Given the description of an element on the screen output the (x, y) to click on. 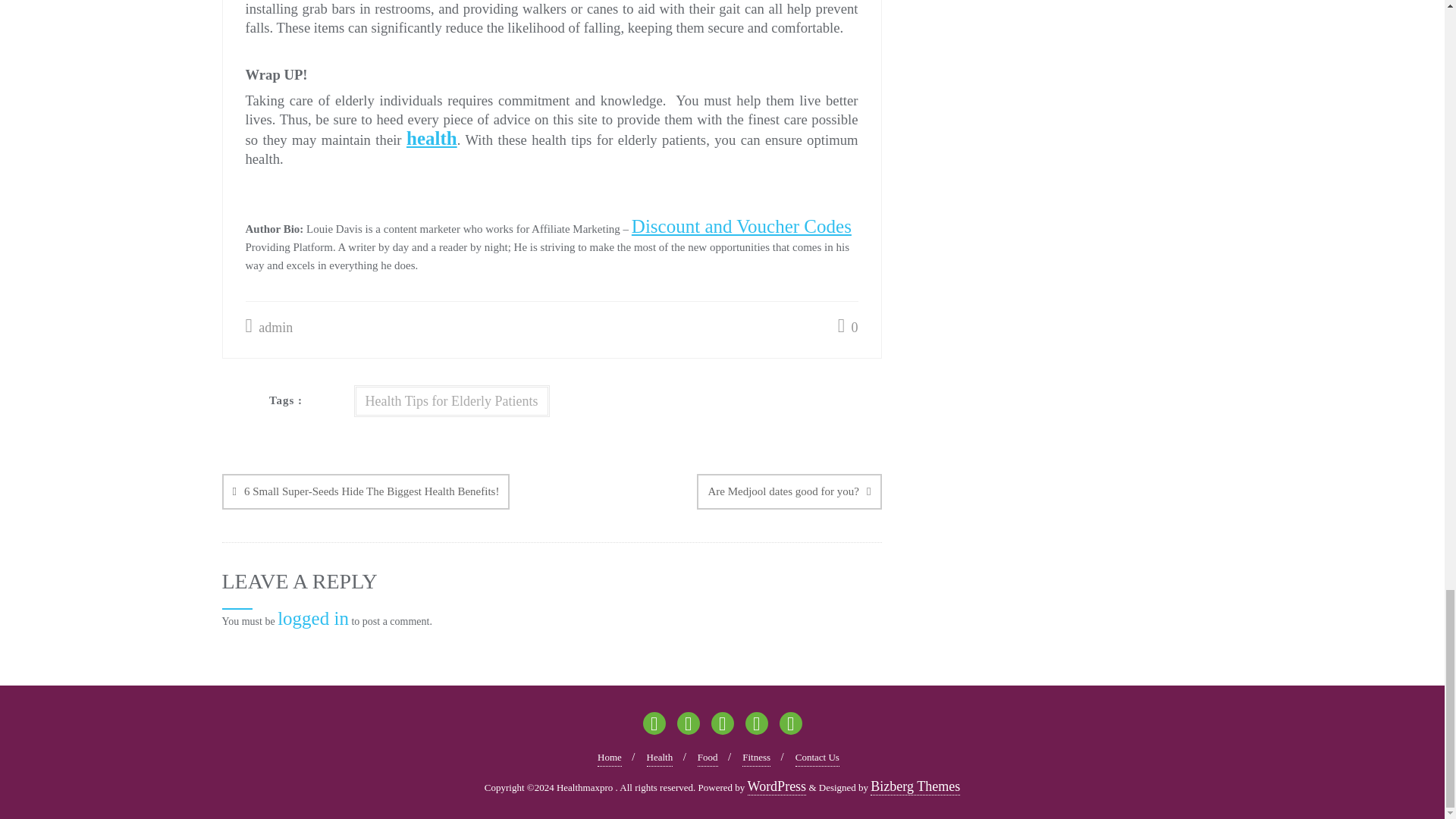
admin (270, 327)
health (431, 137)
6 Small Super-Seeds Hide The Biggest Health Benefits! (365, 491)
Discount and Voucher Codes (741, 226)
logged in (313, 618)
Are Medjool dates good for you? (788, 491)
Health Tips for Elderly Patients (450, 400)
